Given the description of an element on the screen output the (x, y) to click on. 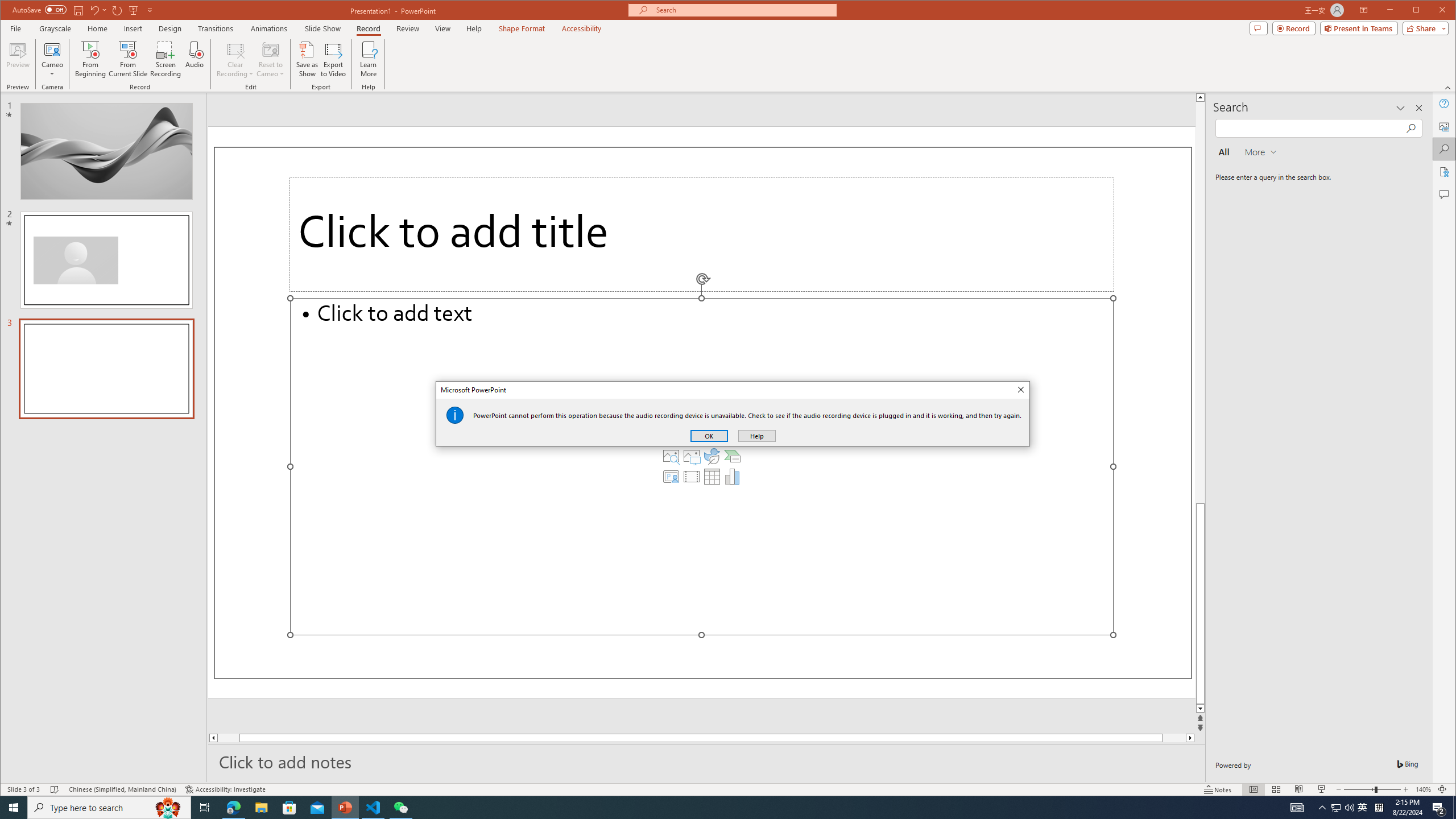
Zoom 140% (1422, 789)
Grayscale (55, 28)
Insert Chart (732, 476)
Clear Recording (234, 59)
